Given the description of an element on the screen output the (x, y) to click on. 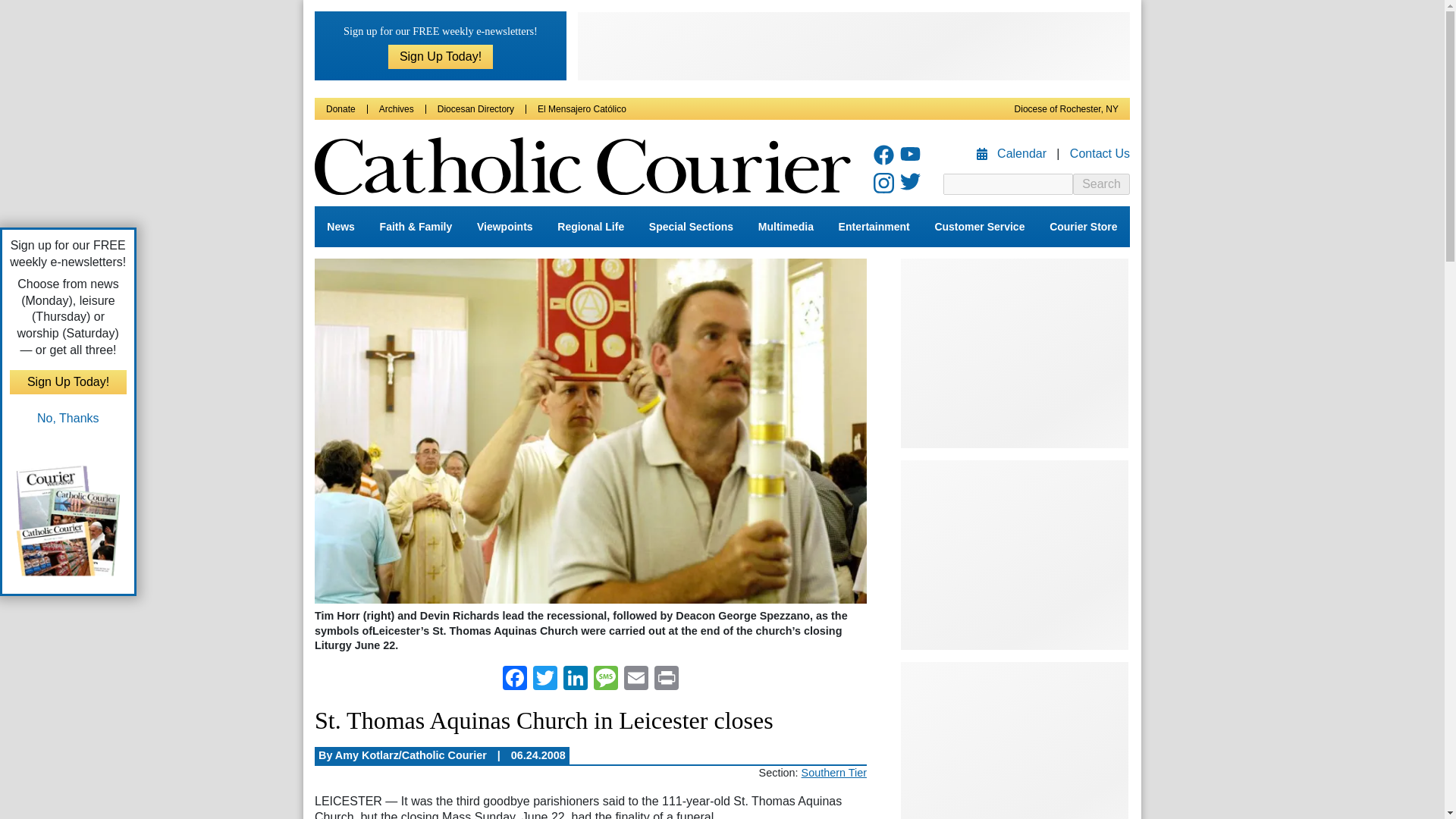
3rd party ad content (1014, 555)
Email (635, 679)
Special Sections (691, 226)
3rd party ad content (1014, 352)
Message (606, 679)
Regional Life (590, 226)
St. Thomas Aquinas Church in Leicester closes (590, 432)
Twitter (544, 679)
Viewpoints (504, 226)
Facebook (514, 679)
